Given the description of an element on the screen output the (x, y) to click on. 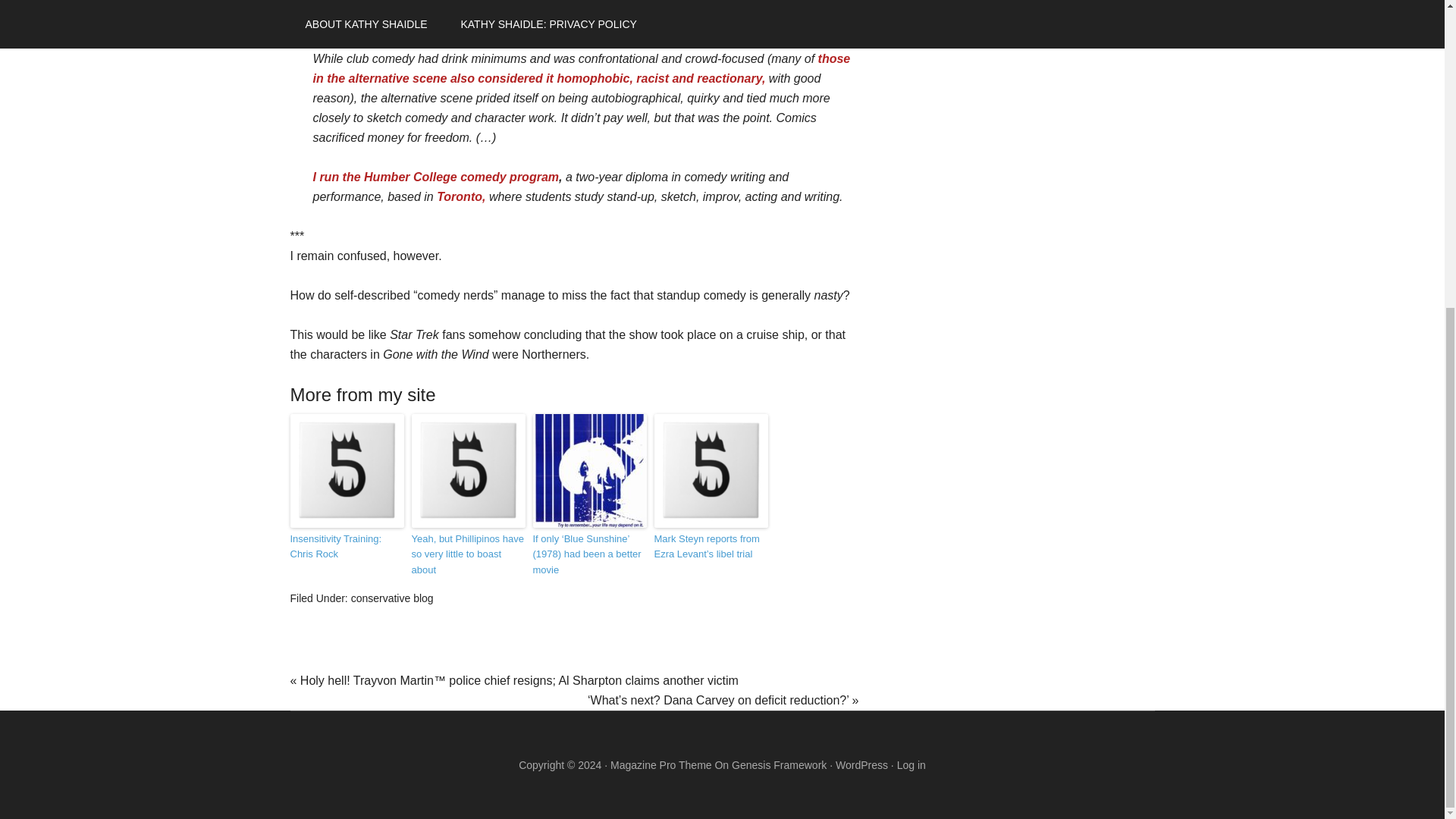
Magazine Pro Theme (660, 765)
Log in (911, 765)
Yeah, but Phillipinos have so very little to boast about (467, 554)
WordPress (861, 765)
conservative blog (391, 598)
Genesis Framework (779, 765)
Insensitivity Training: Chris Rock (346, 547)
